Given the description of an element on the screen output the (x, y) to click on. 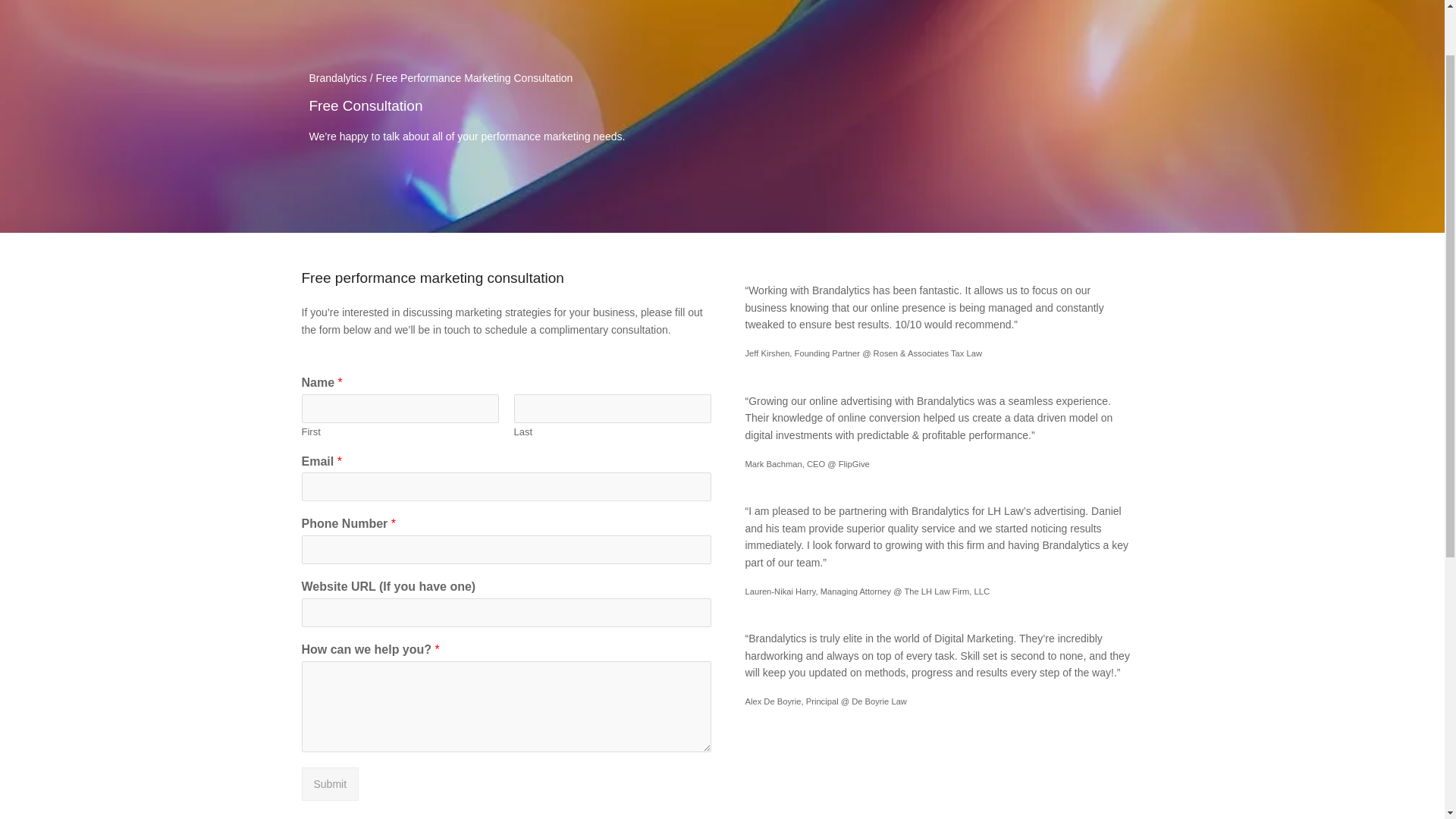
Brandalytics on LinkedIn (1007, 653)
How to Use Memes in Advertising: An Approach to Engagement (830, 544)
WordPress Blog (987, 435)
Free Newsletter (339, 522)
Google Ads Blog (988, 522)
Call tracking login (343, 479)
AI Blog (966, 479)
Digital Marketing Blog (1000, 391)
Google Ads Management Company: Choosing the Right Partner (830, 596)
SEO Blog (972, 566)
Submit (330, 783)
Reporting login (336, 435)
